Given the description of an element on the screen output the (x, y) to click on. 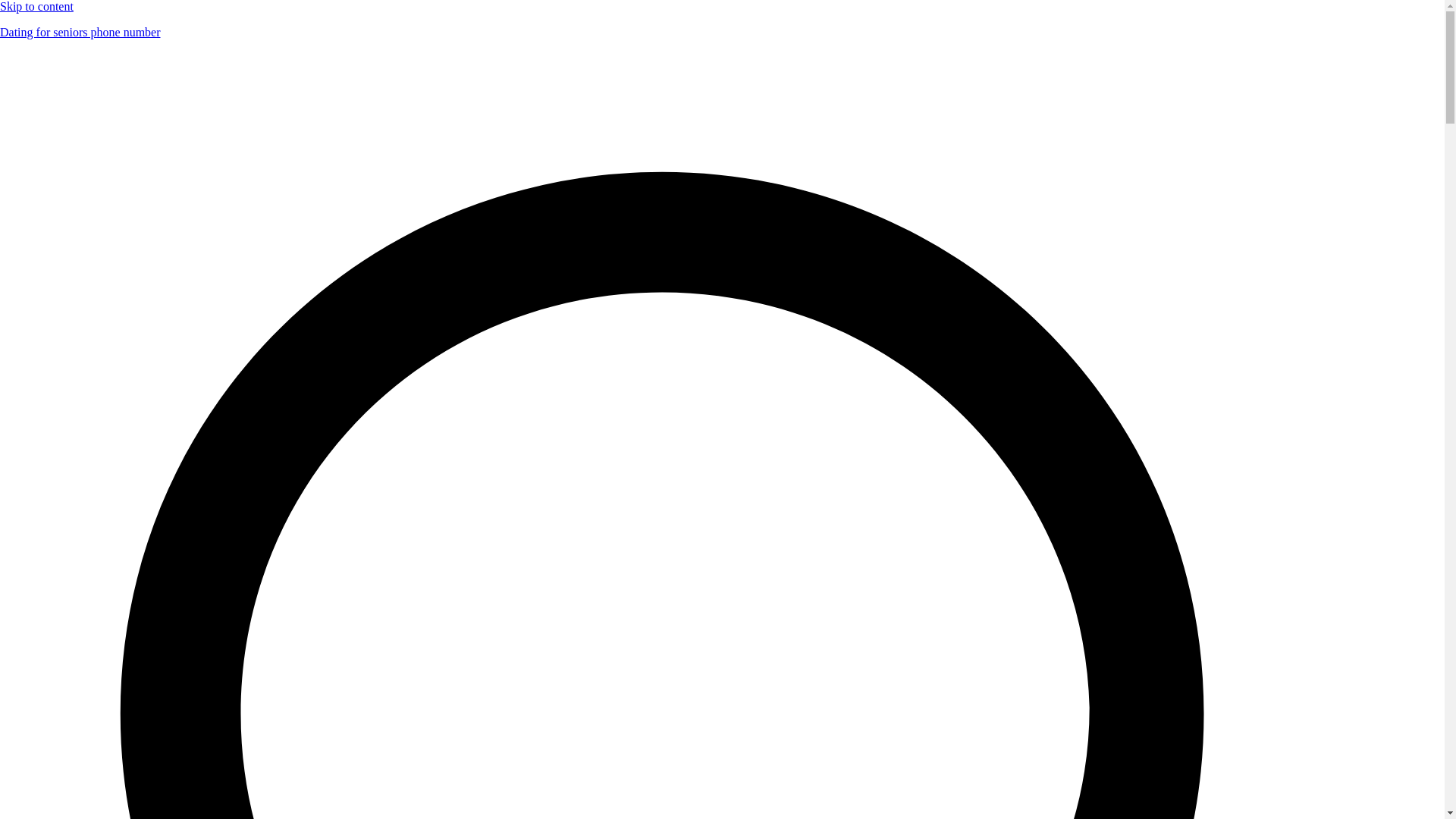
Dating for seniors phone number Element type: text (80, 31)
Skip to content Element type: text (36, 6)
